Given the description of an element on the screen output the (x, y) to click on. 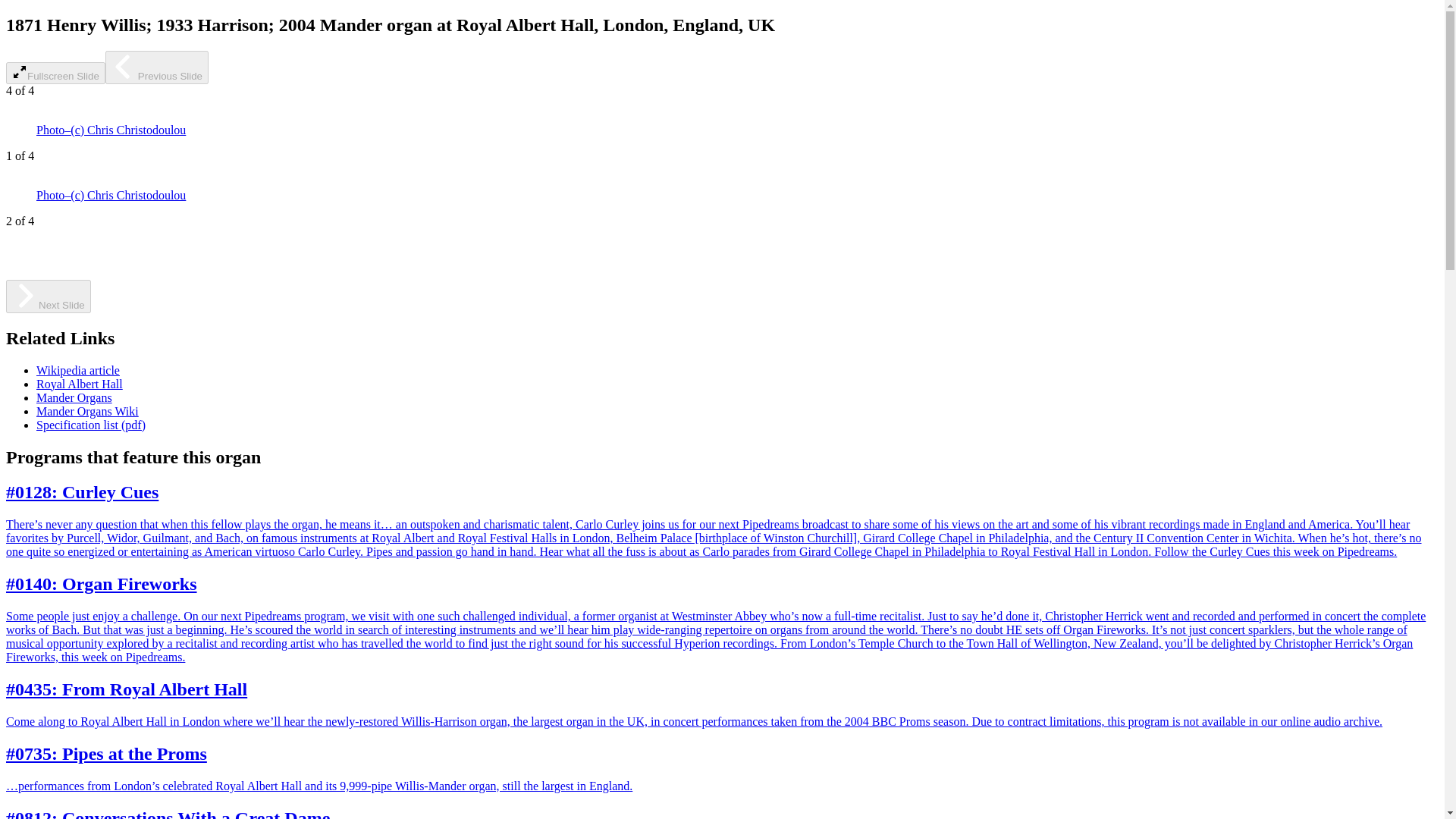
Wikipedia article (77, 369)
Fullscreen Slide (54, 73)
Mander Organs (74, 397)
Mander Organs Wiki (87, 410)
Previous Slide (156, 67)
Next Slide (47, 296)
Royal Albert Hall (79, 383)
